Given the description of an element on the screen output the (x, y) to click on. 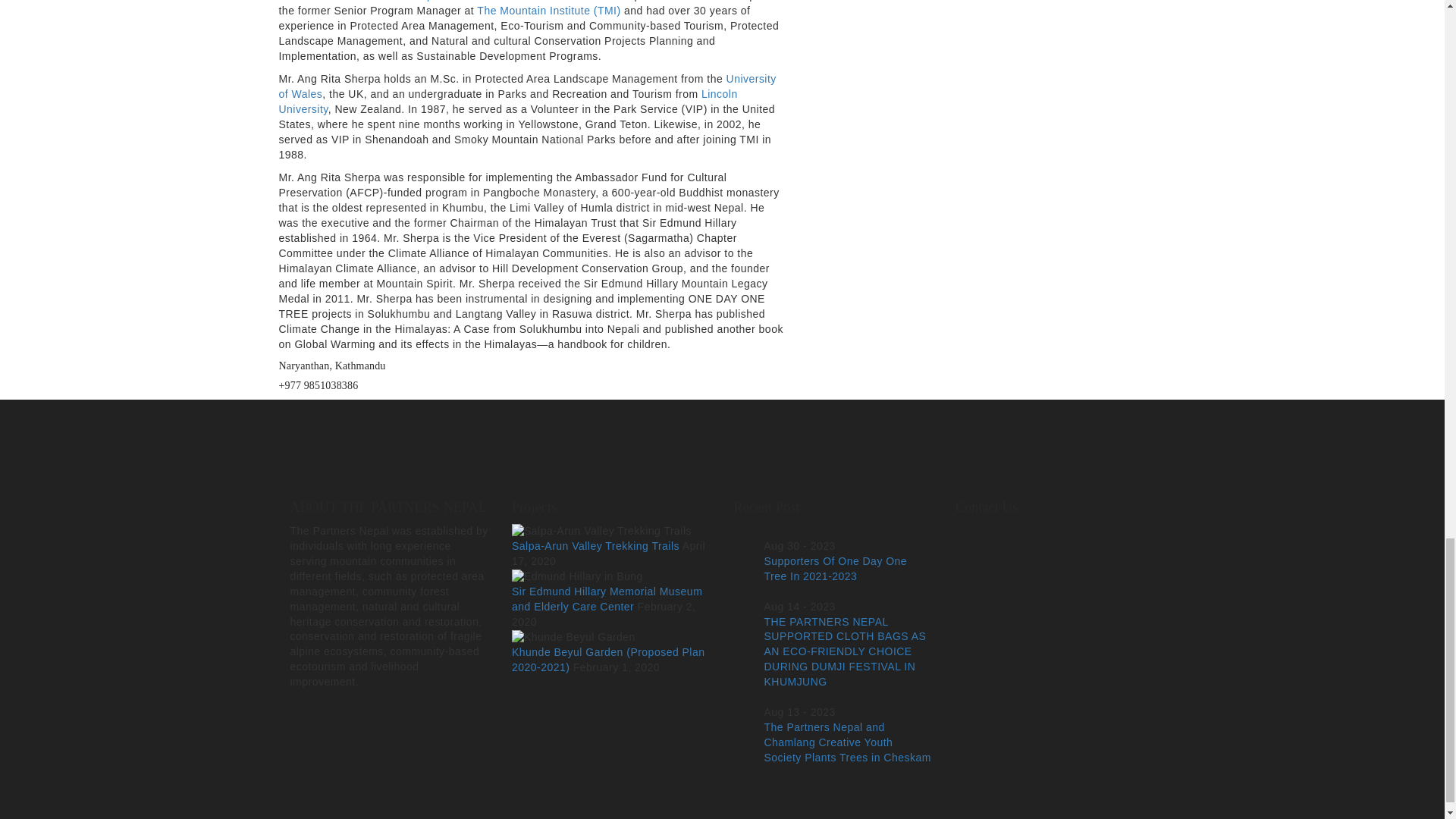
University of Wales (527, 85)
Sir Edmund Hillary Memorial Museum and Elderly Care Center 3 (577, 576)
Sir Edmund Hillary Memorial Museum and Elderly Care Center (606, 598)
Supporters Of One Day One Tree In 2021-2023 (835, 568)
Supporters Of One Day One Tree In 2021-2023 (835, 568)
Salpa-Arun Valley Trekking Trails 2 (601, 531)
The Partners Nepal (392, 0)
Salpa-Arun Valley Trekking Trails (595, 545)
Lincoln University (508, 101)
